Given the description of an element on the screen output the (x, y) to click on. 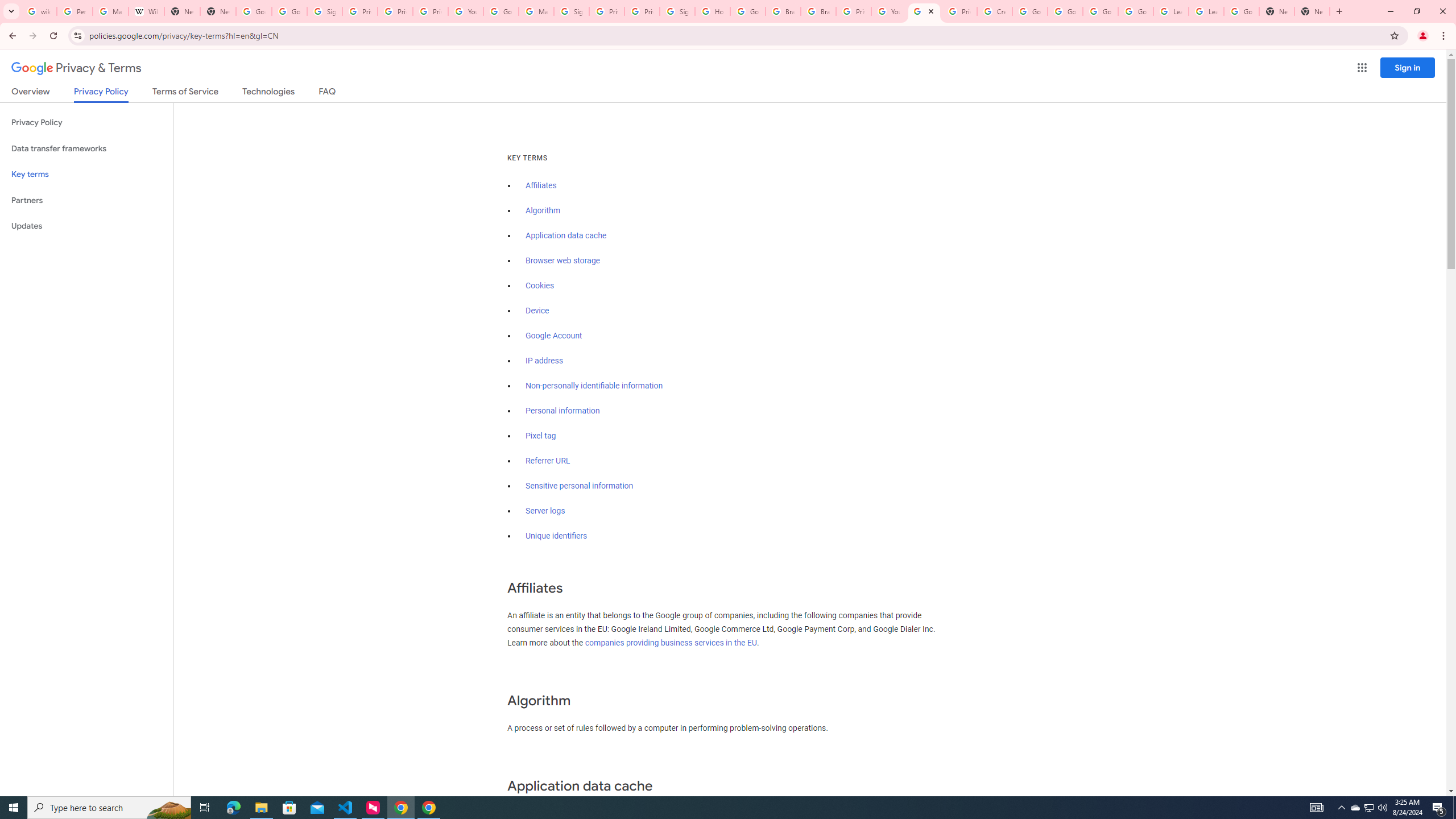
Google Account Help (1099, 11)
Google Account Help (1064, 11)
YouTube (888, 11)
Non-personally identifiable information (593, 385)
Referrer URL (547, 461)
Data transfer frameworks (86, 148)
Google Account Help (1135, 11)
